Given the description of an element on the screen output the (x, y) to click on. 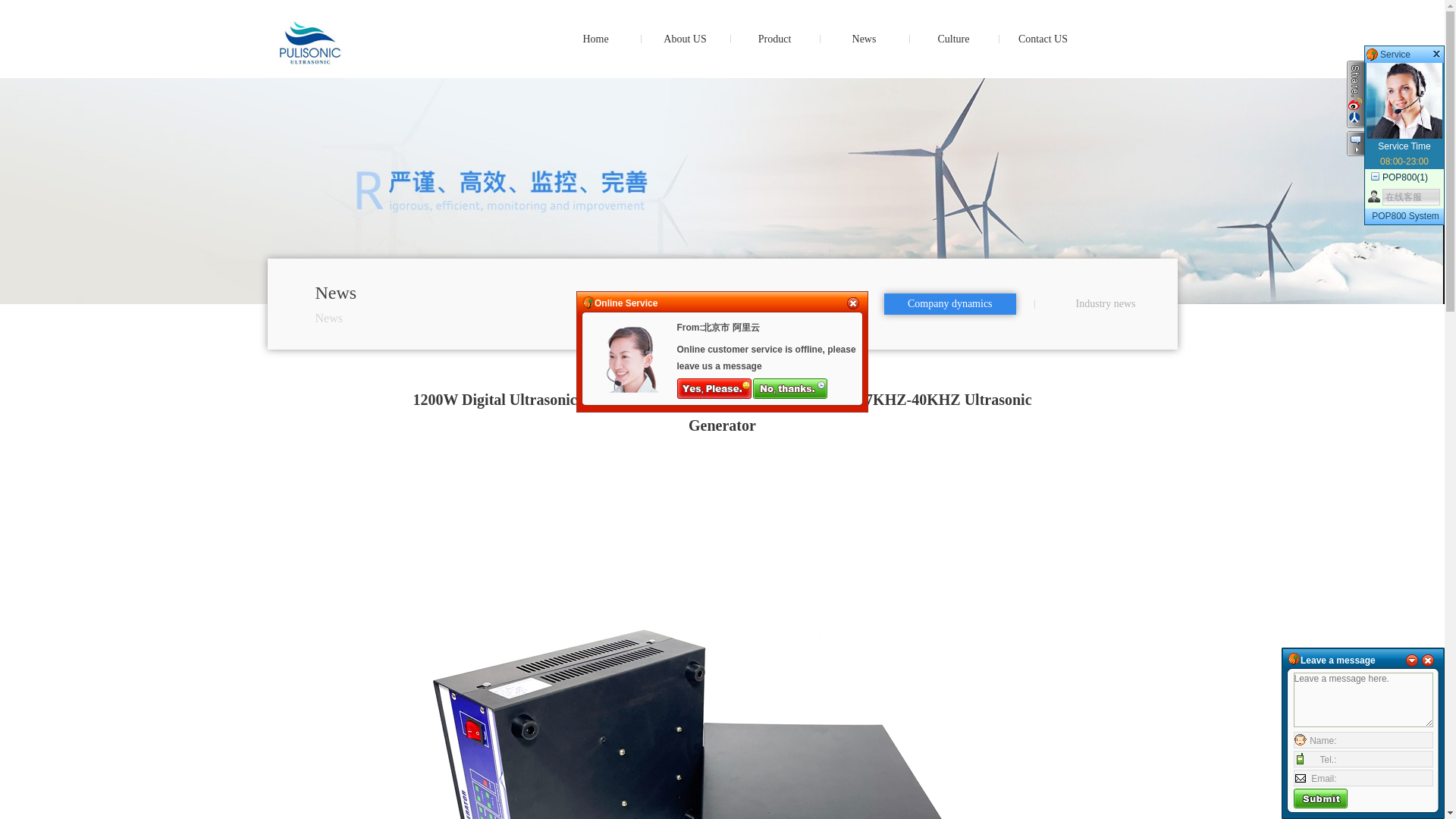
digital ultrasonic generator (594, 38)
POP800 System (1405, 215)
digital ultrasonic generator (339, 60)
Product (773, 38)
News (863, 38)
Home (594, 38)
About US (684, 38)
Industry news (1105, 303)
Contact US (1042, 38)
Company dynamics (949, 303)
Culture (952, 38)
